Given the description of an element on the screen output the (x, y) to click on. 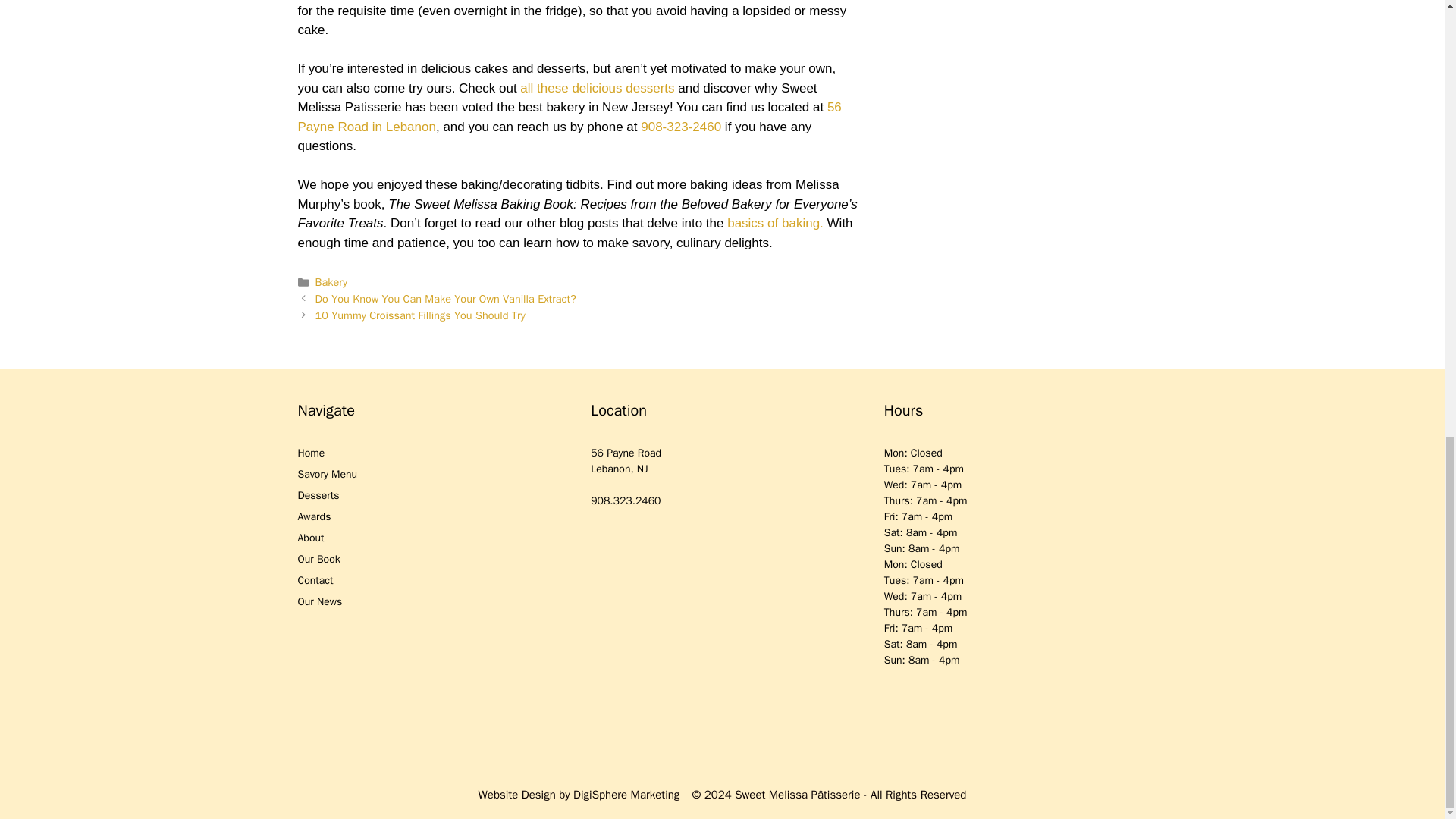
10 Yummy Croissant Fillings You Should Try (420, 315)
908-323-2460 (680, 126)
basics of baking. (775, 223)
Do You Know You Can Make Your Own Vanilla Extract? (445, 298)
all these delicious desserts (596, 88)
56 Payne Road in Lebanon (569, 116)
Bakery (331, 282)
